Given the description of an element on the screen output the (x, y) to click on. 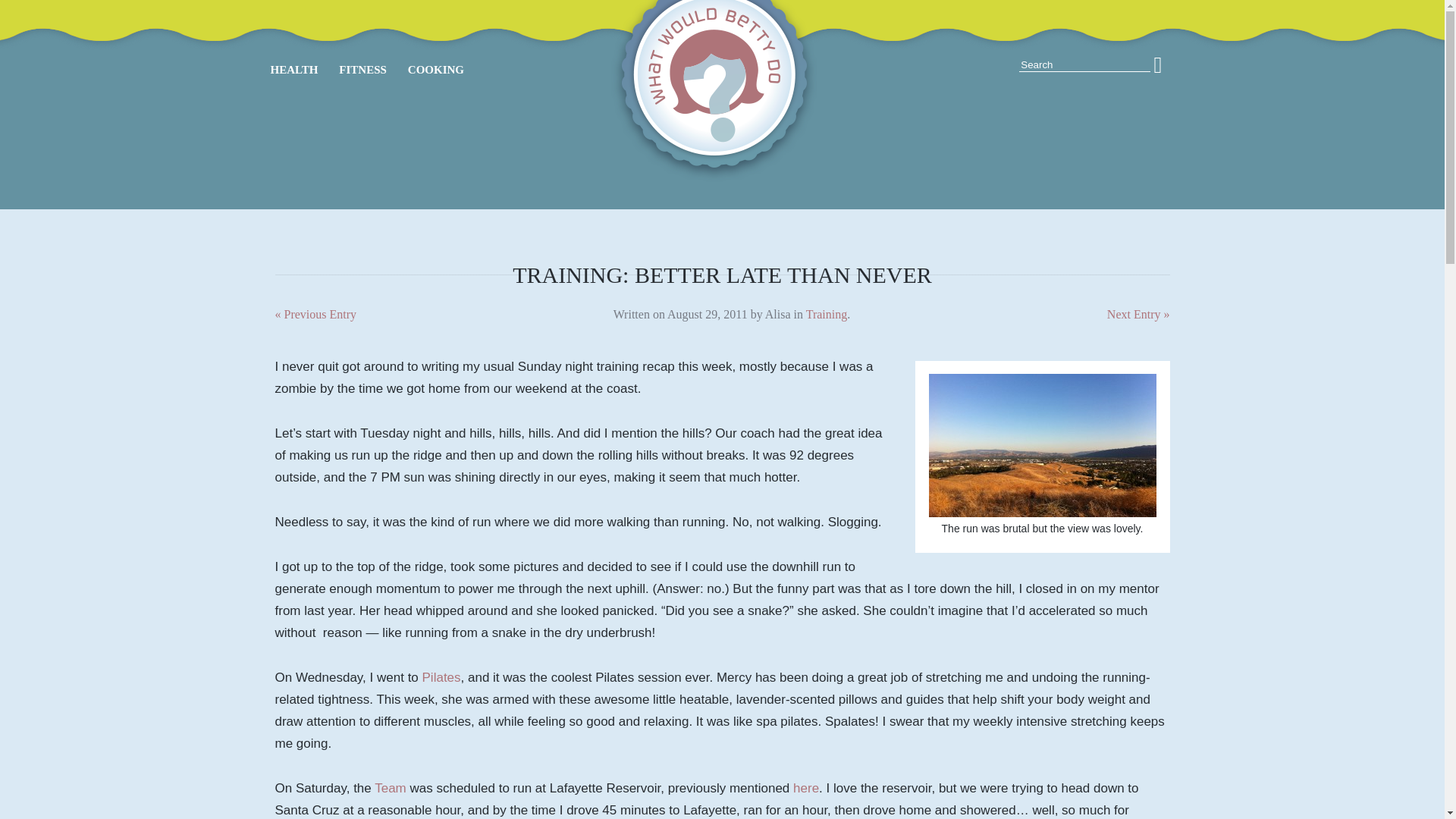
Team (390, 788)
HEALTH (293, 69)
COOKING (435, 69)
Pilates (441, 677)
FITNESS (363, 69)
here (805, 788)
Training (826, 314)
view-from-hill (1042, 444)
